Given the description of an element on the screen output the (x, y) to click on. 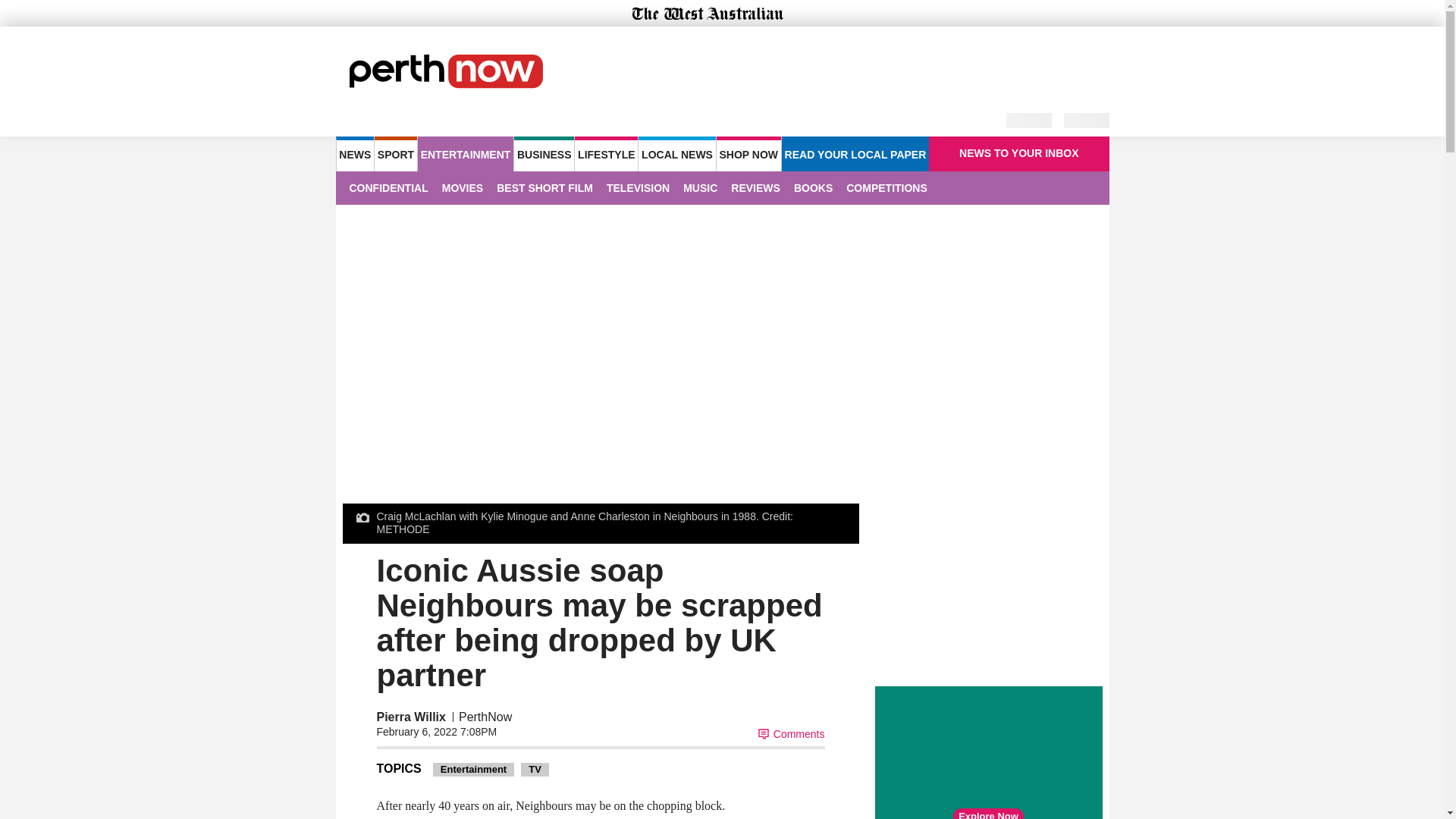
BUSINESS (543, 153)
NEWS (354, 153)
ENTERTAINMENT (465, 153)
SPORT (395, 153)
